Given the description of an element on the screen output the (x, y) to click on. 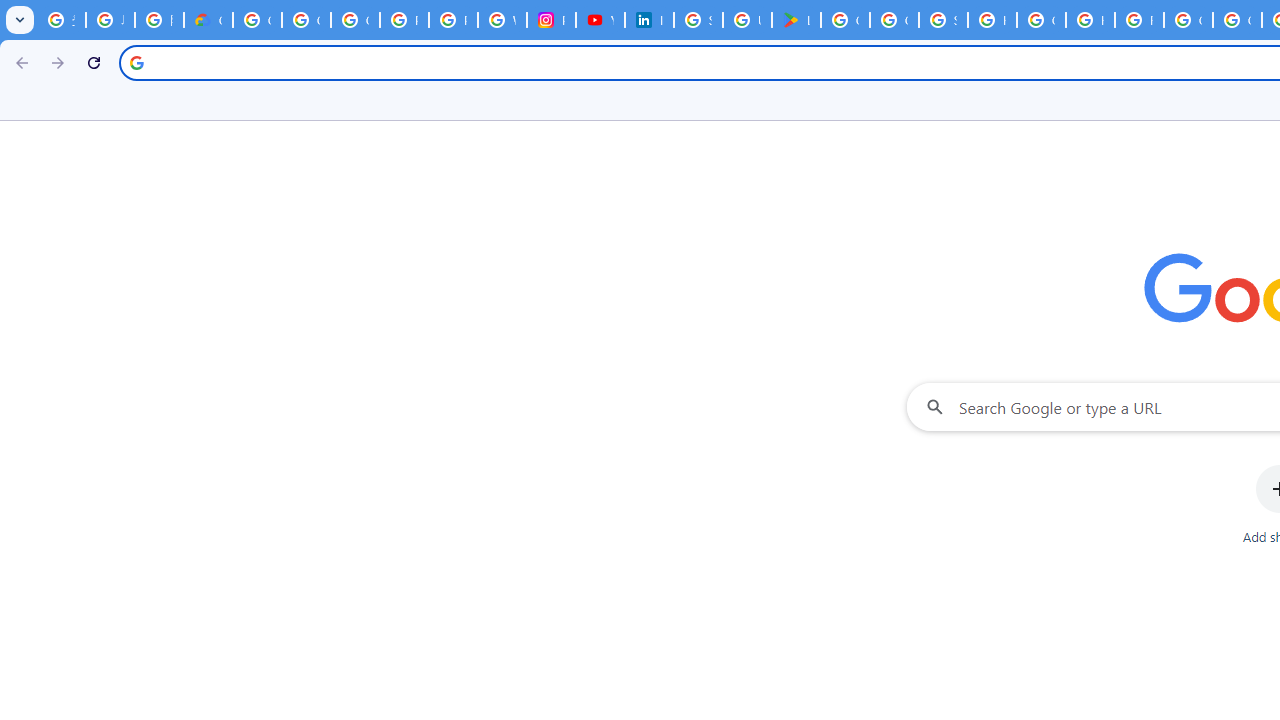
YouTube Culture & Trends - On The Rise: Handcam Videos (600, 20)
Last Shelter: Survival - Apps on Google Play (795, 20)
Sign in - Google Accounts (698, 20)
Sign in - Google Accounts (943, 20)
Search icon (136, 62)
